Given the description of an element on the screen output the (x, y) to click on. 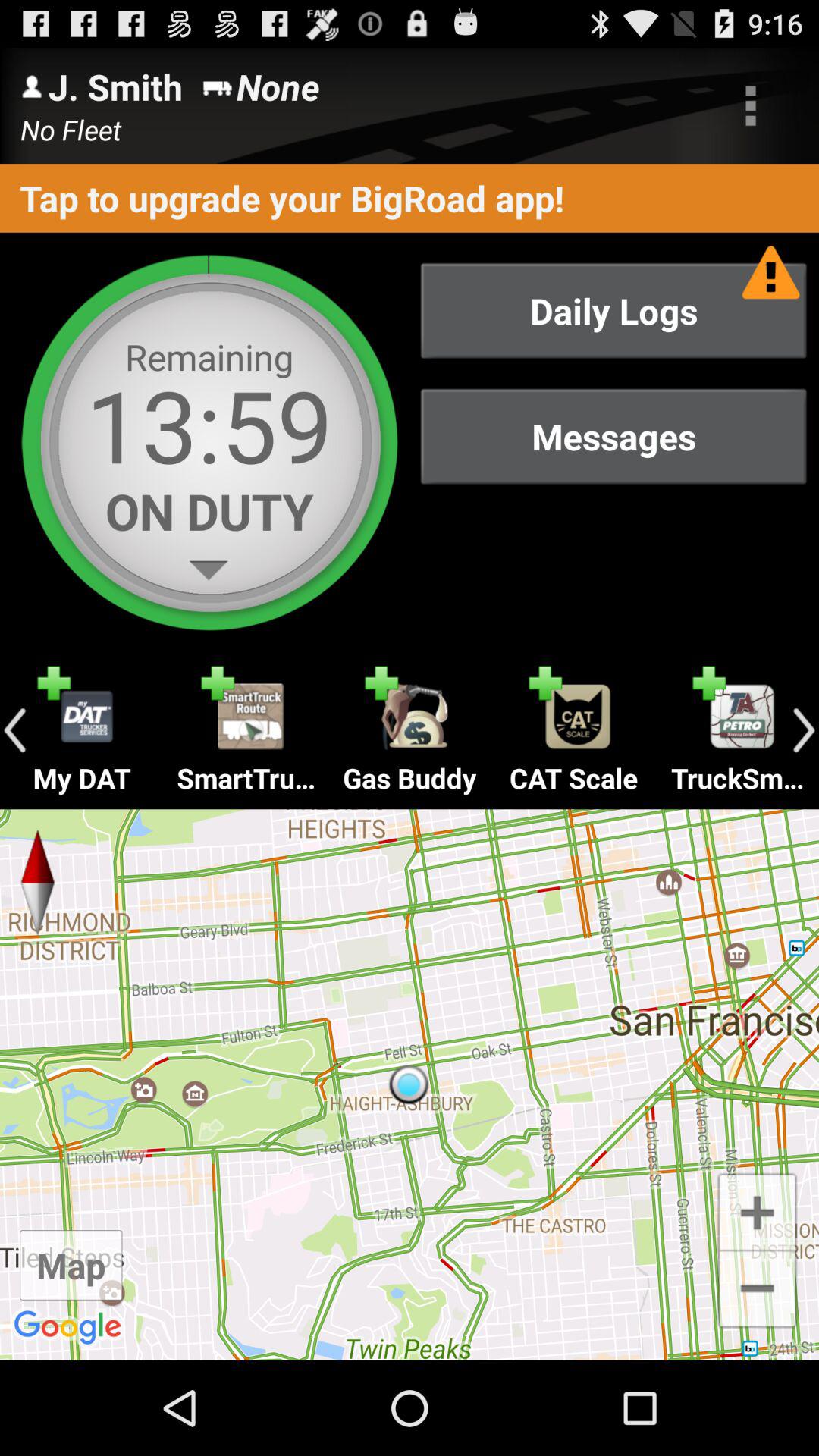
scroll until tap to upgrade (409, 197)
